Given the description of an element on the screen output the (x, y) to click on. 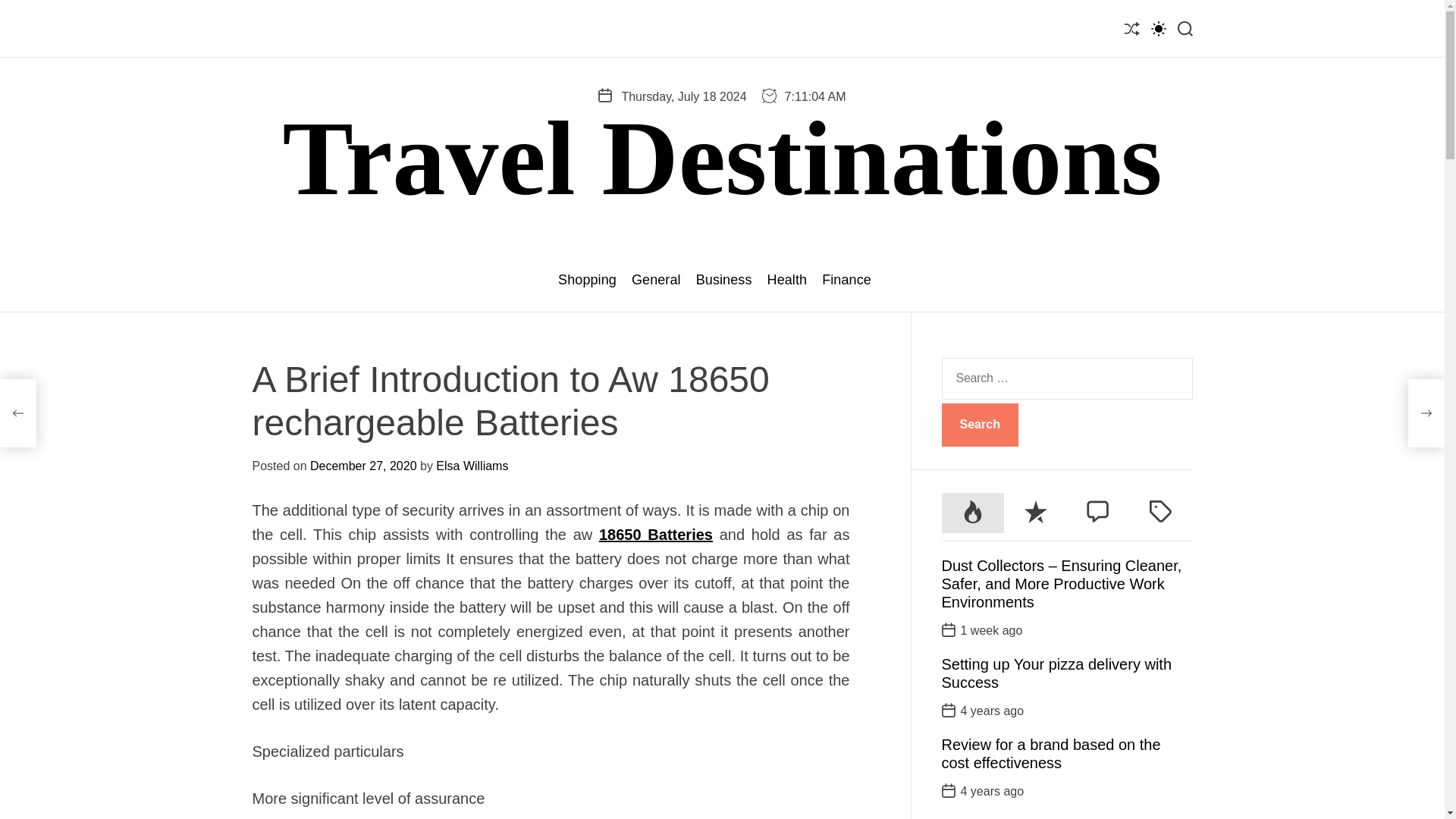
Search (979, 424)
Search (979, 424)
December 27, 2020 (363, 465)
Travel Destinations (721, 158)
Recent (1035, 513)
Shopping (586, 280)
General (656, 280)
18650 Batteries (655, 534)
Review for a brand based on the cost effectiveness (1051, 753)
Setting up Your pizza delivery with Success (1057, 673)
Popular (973, 513)
Health (787, 280)
Search (979, 424)
Tagged (1160, 513)
Finance (846, 280)
